Given the description of an element on the screen output the (x, y) to click on. 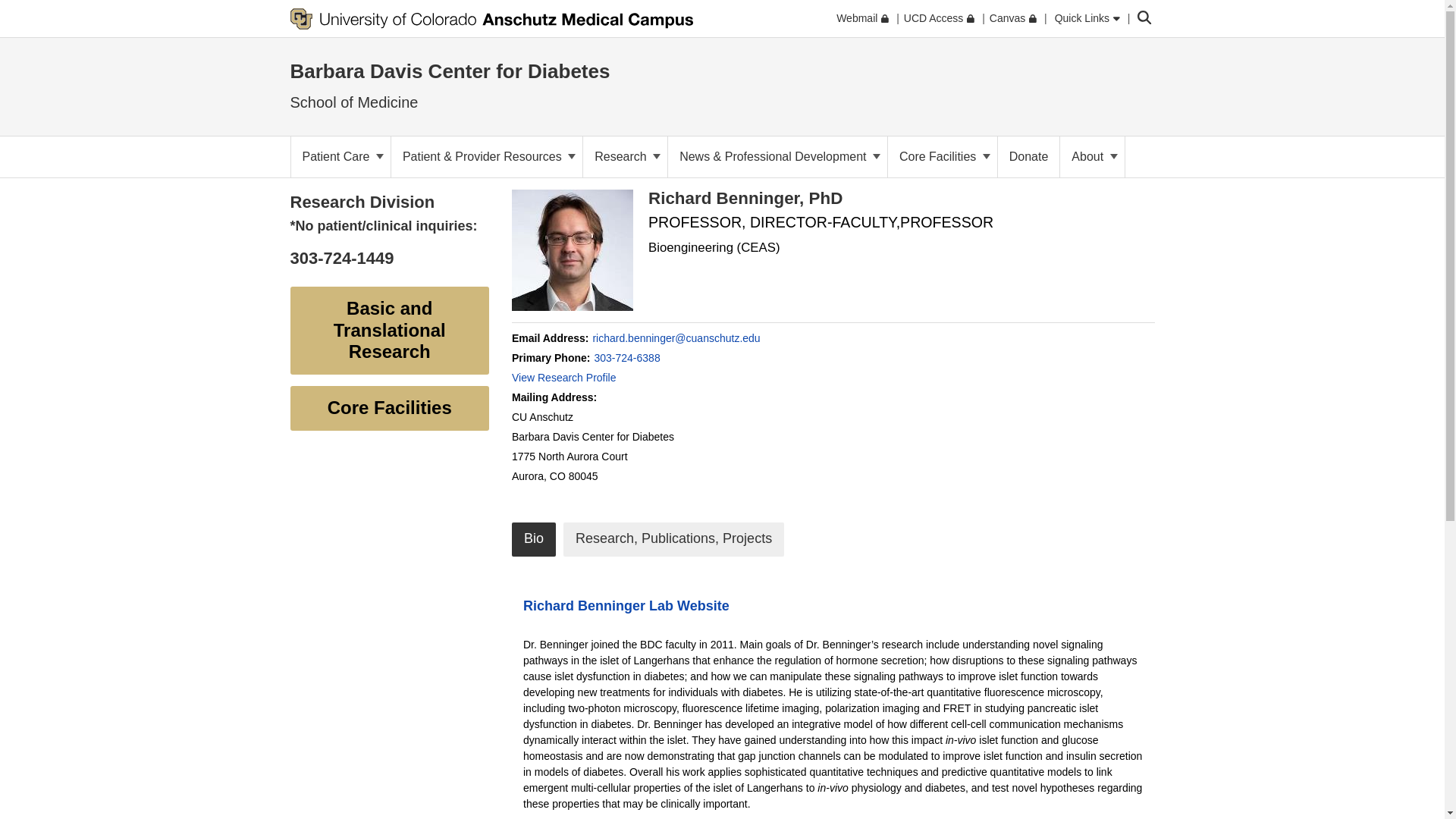
UCD Access (939, 18)
Quick Links (1086, 18)
Webmail (861, 18)
Barbara Davis Center for Diabetes (449, 70)
School of Medicine (353, 102)
Canvas (1013, 18)
Patient Care (340, 156)
